Given the description of an element on the screen output the (x, y) to click on. 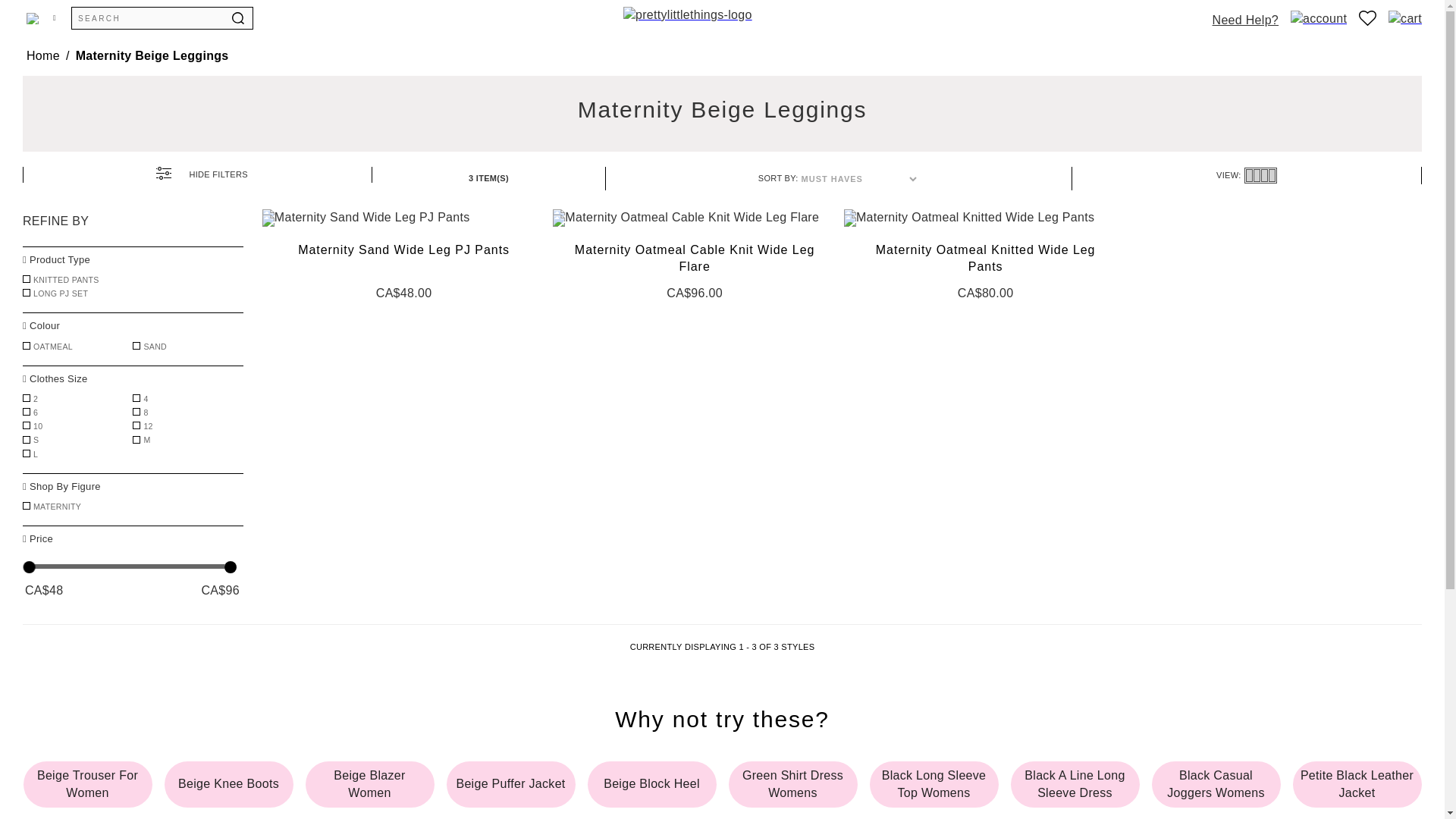
Need Help? (1245, 17)
